Given the description of an element on the screen output the (x, y) to click on. 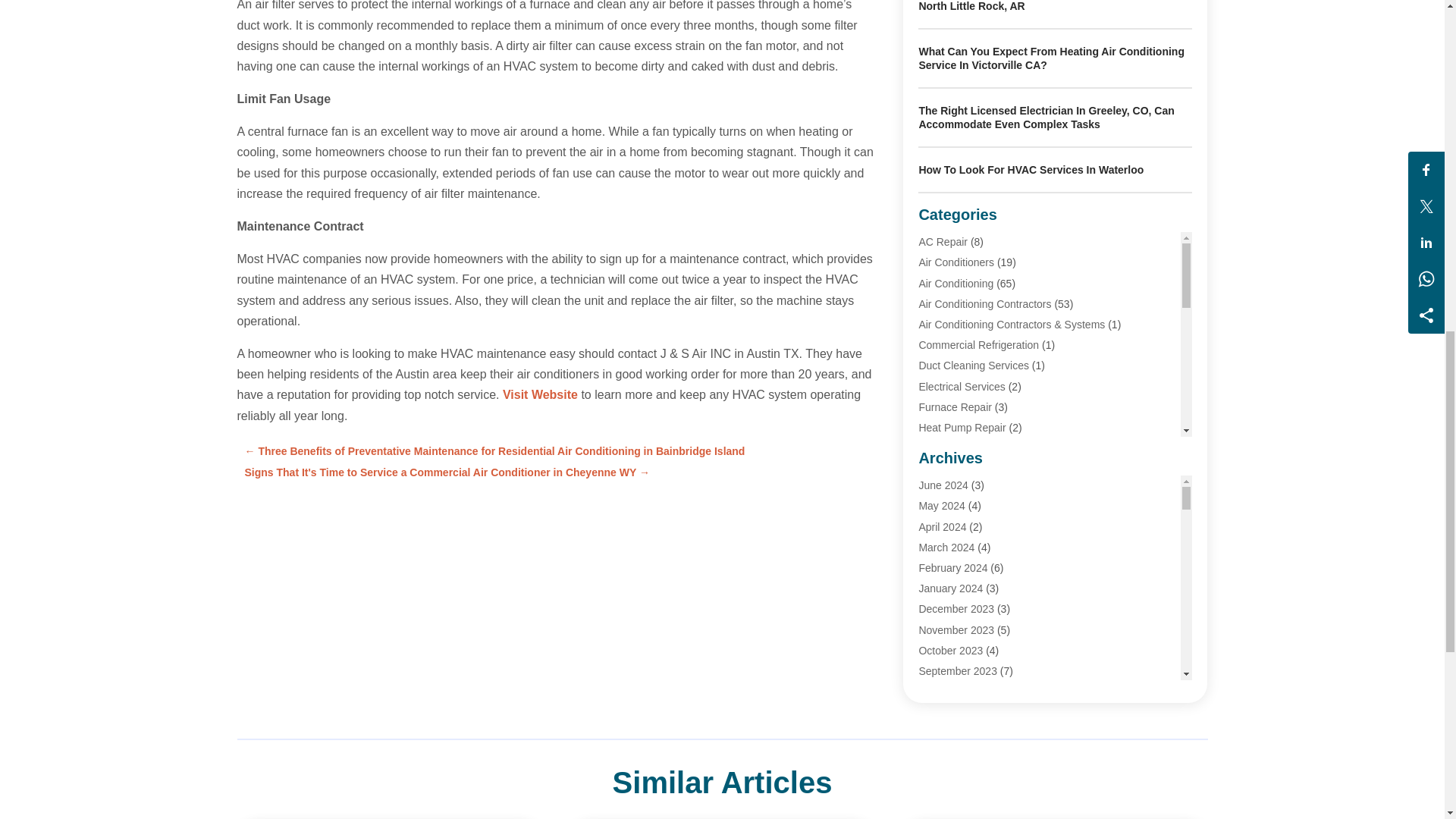
Heat Pump Repair (962, 427)
Commercial Refrigeration (978, 345)
Air Conditioning (955, 283)
Visit Website (540, 394)
Visit Website (540, 394)
Air Conditioning Contractors (984, 304)
Electrical Services (961, 386)
Furnace Repair (954, 407)
